Given the description of an element on the screen output the (x, y) to click on. 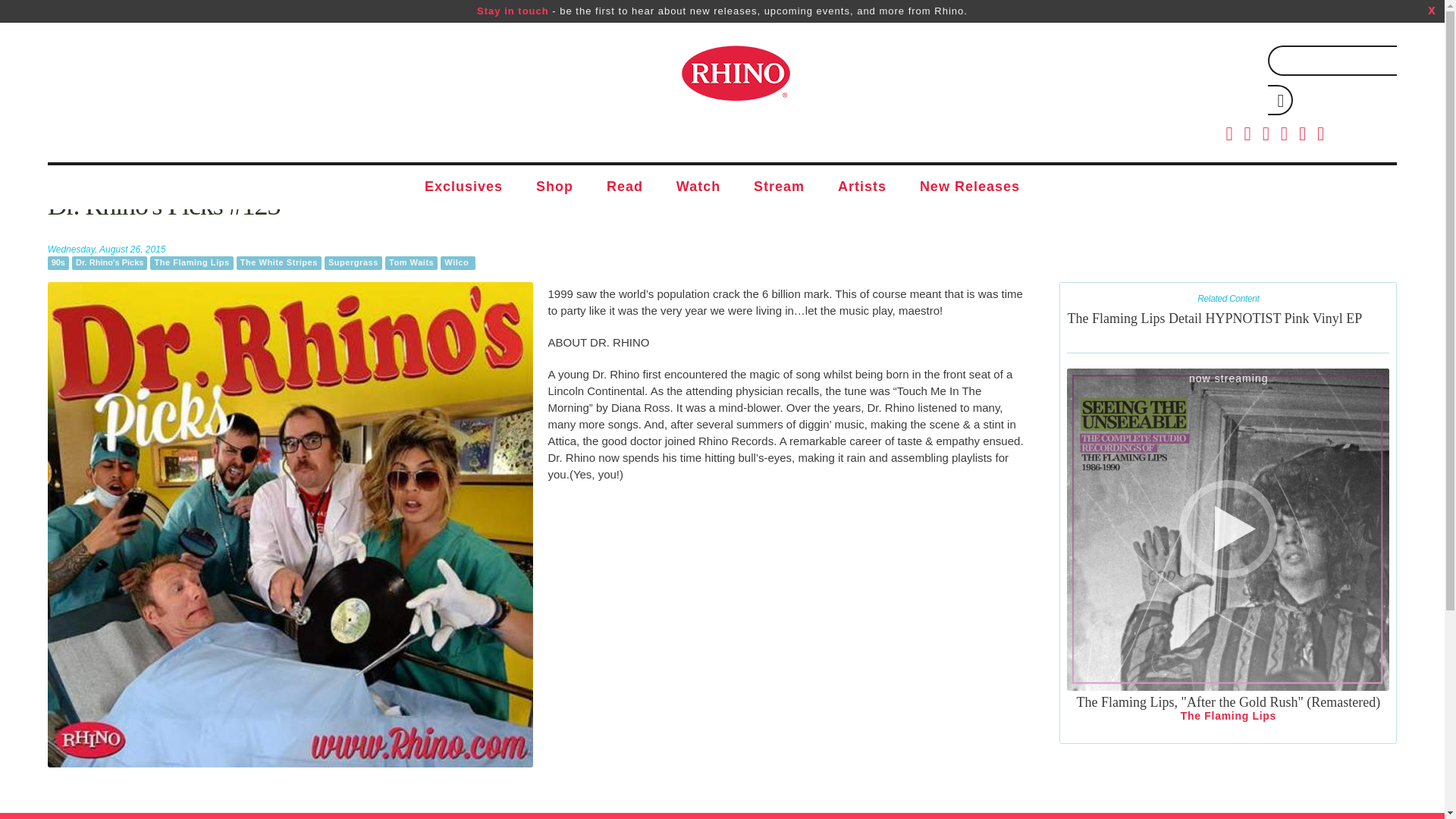
Rhino.com Home (735, 72)
Watch (698, 187)
Rhino.com Home (735, 72)
New Releases (969, 187)
Artists (861, 187)
Read (624, 187)
Stream (778, 187)
Shop (554, 187)
Exclusives (463, 187)
